Given the description of an element on the screen output the (x, y) to click on. 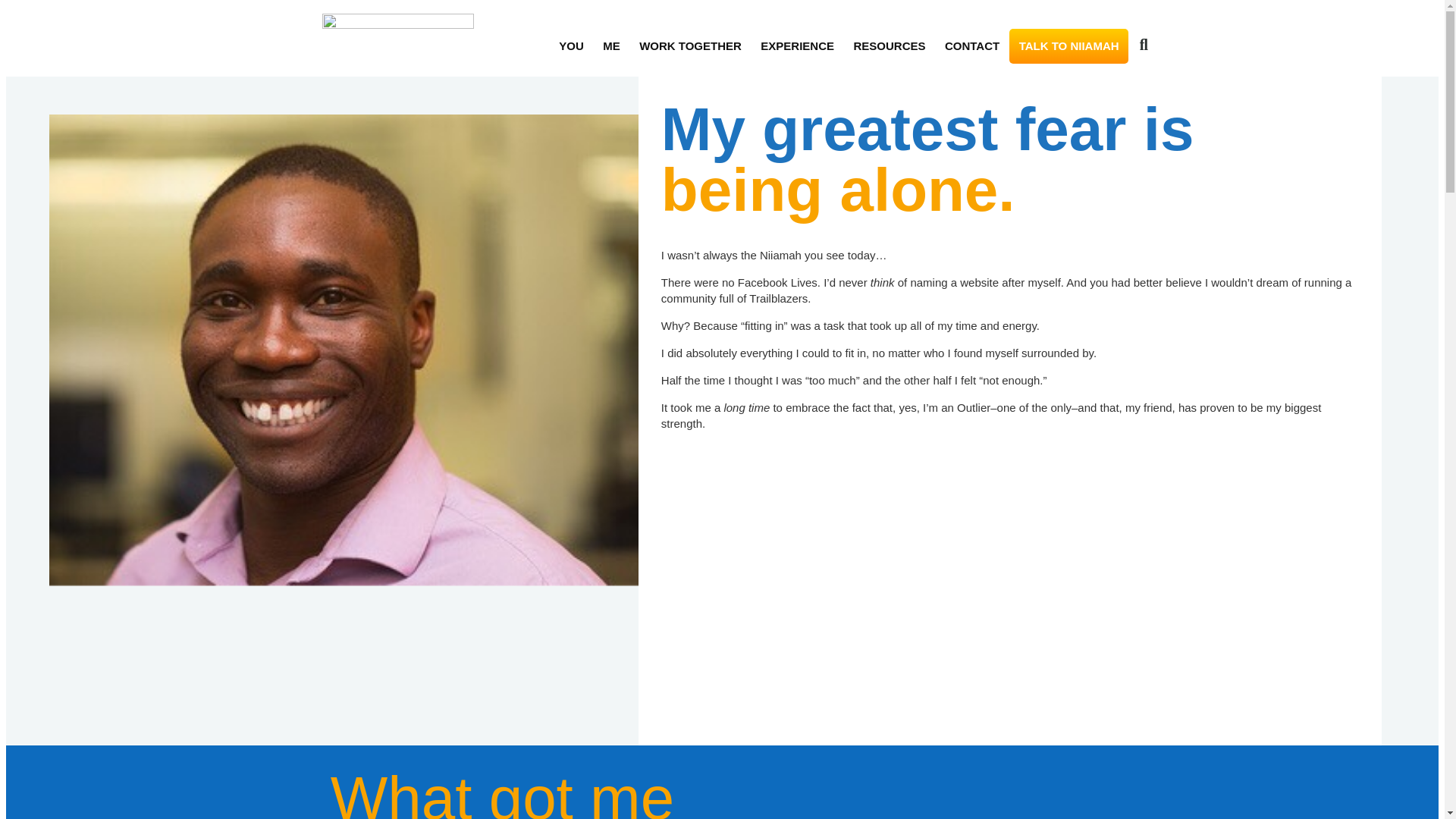
TALK TO NIIAMAH (1068, 45)
EXPERIENCE (797, 45)
YOU (570, 45)
ME (610, 45)
RESOURCES (889, 45)
CONTACT (971, 45)
WORK TOGETHER (689, 45)
